Given the description of an element on the screen output the (x, y) to click on. 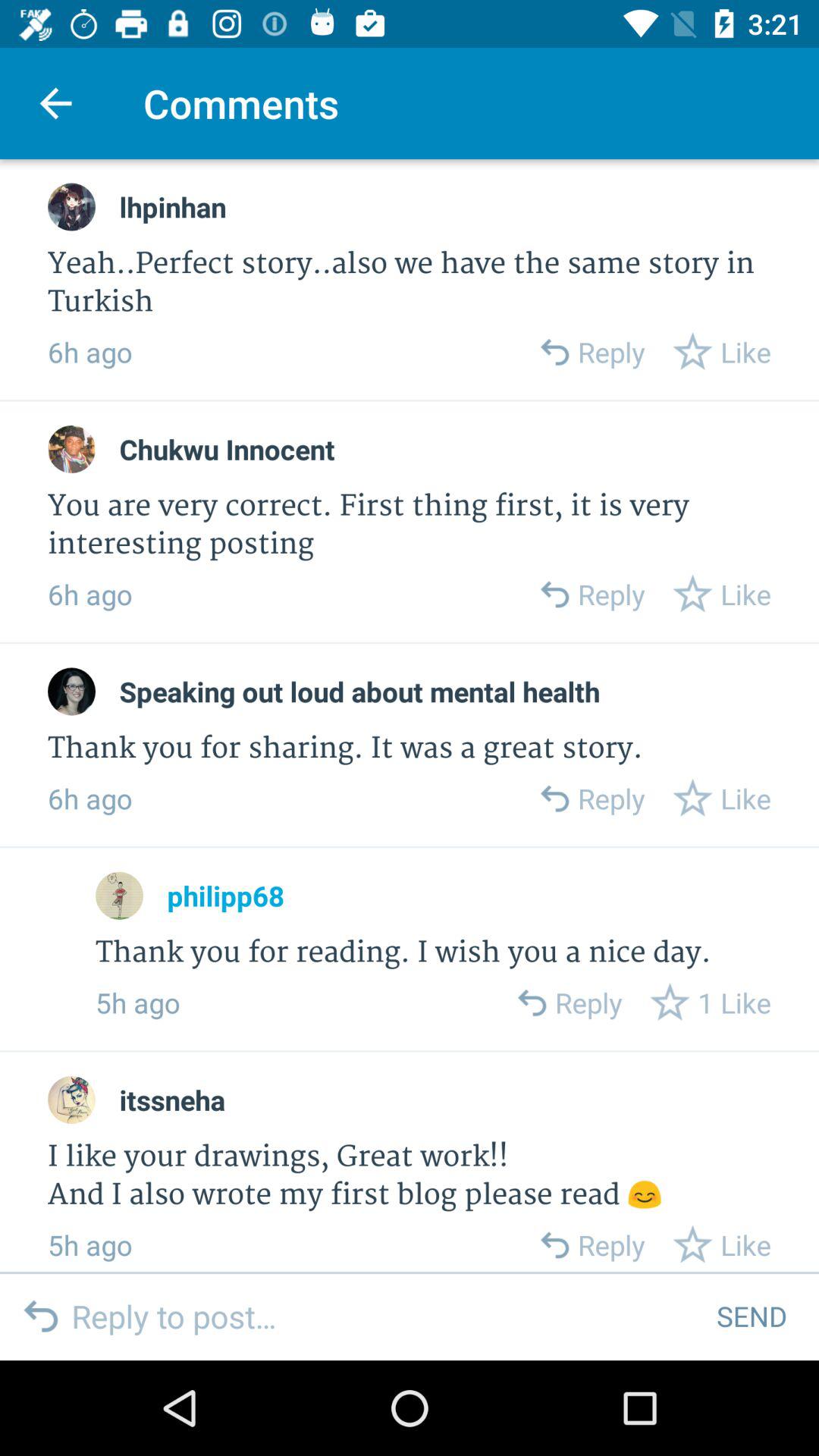
turn off the item above the you are very icon (226, 449)
